Given the description of an element on the screen output the (x, y) to click on. 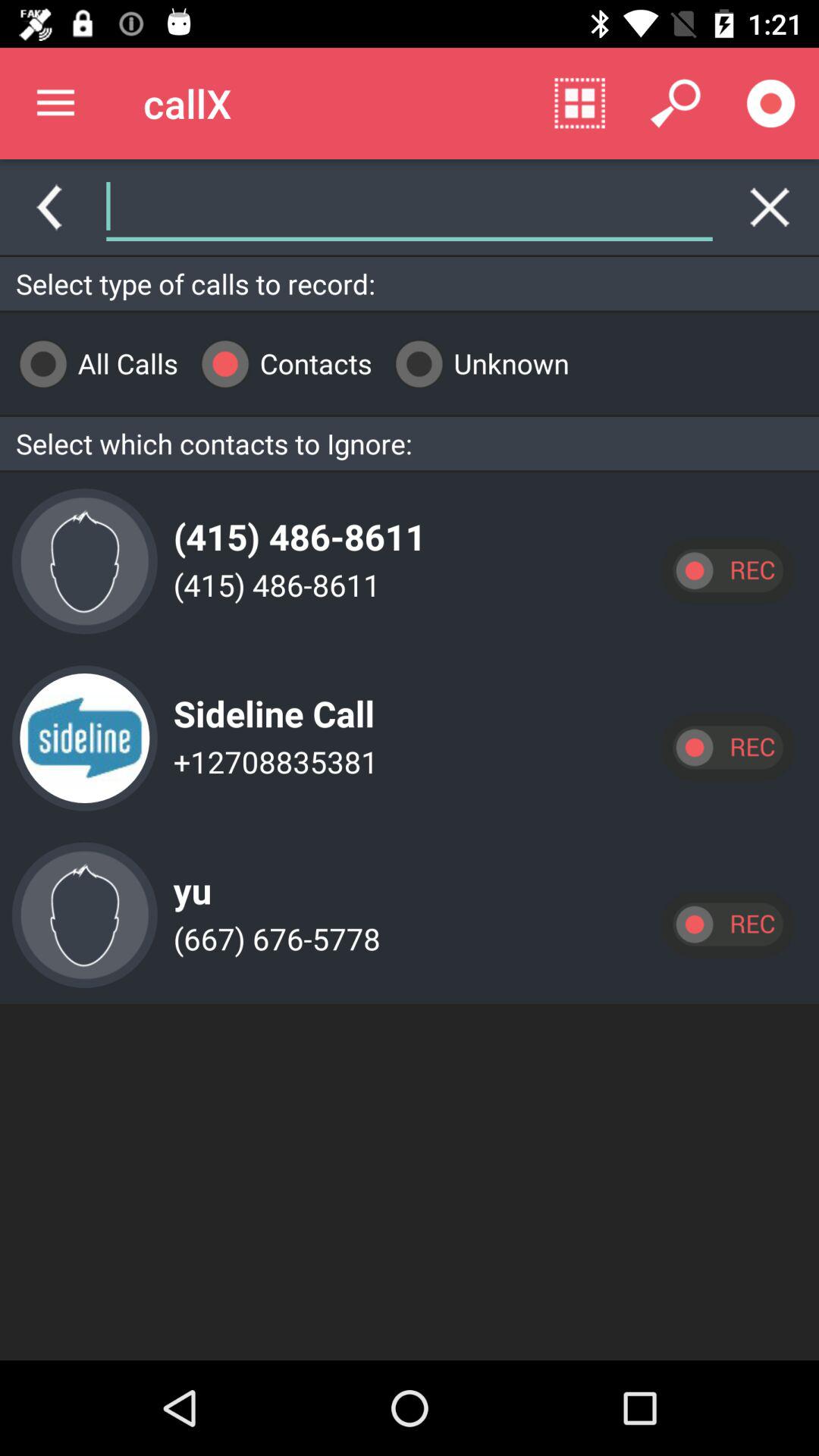
open item next to (415) 486-8611 (84, 561)
